Given the description of an element on the screen output the (x, y) to click on. 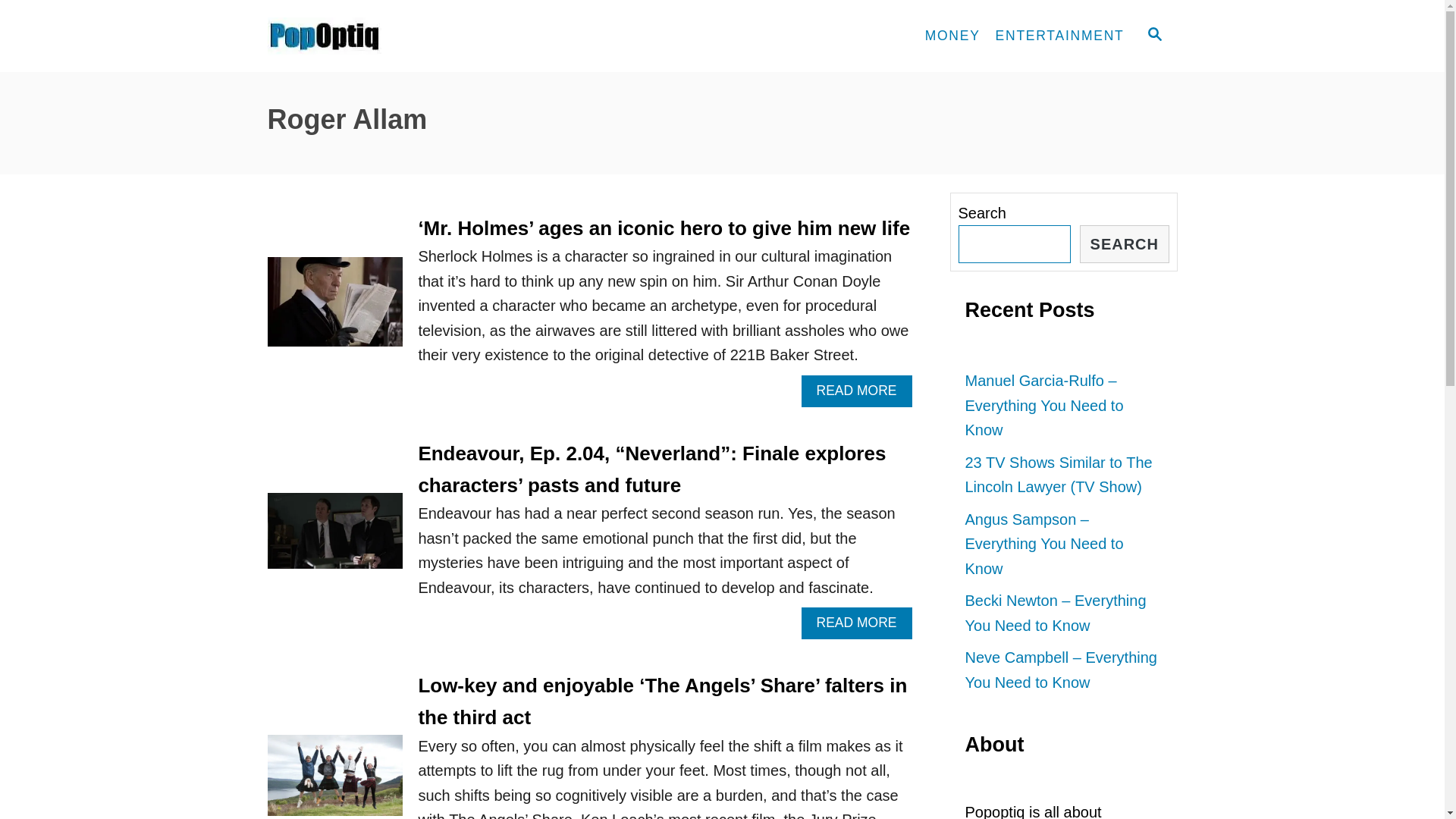
SEARCH (1124, 243)
MONEY (952, 36)
PopOptiq (403, 36)
ENTERTAINMENT (1060, 36)
SEARCH (1153, 35)
